Given the description of an element on the screen output the (x, y) to click on. 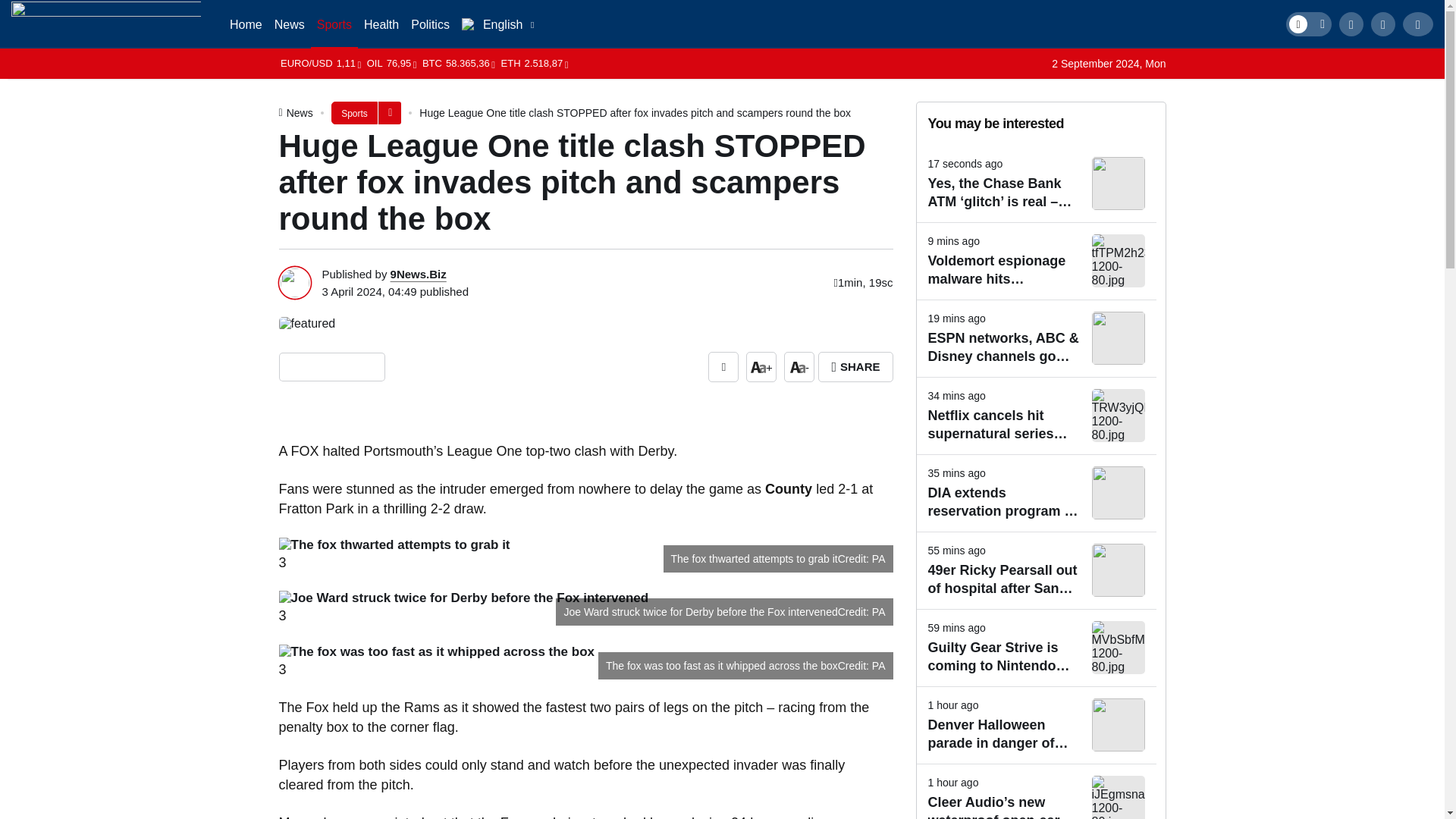
Sports (354, 112)
Sports (334, 24)
County (788, 488)
Comment (1283, 20)
Politics (429, 24)
English (497, 24)
Comment (722, 367)
Share (1373, 20)
News (299, 112)
Home (245, 24)
